Given the description of an element on the screen output the (x, y) to click on. 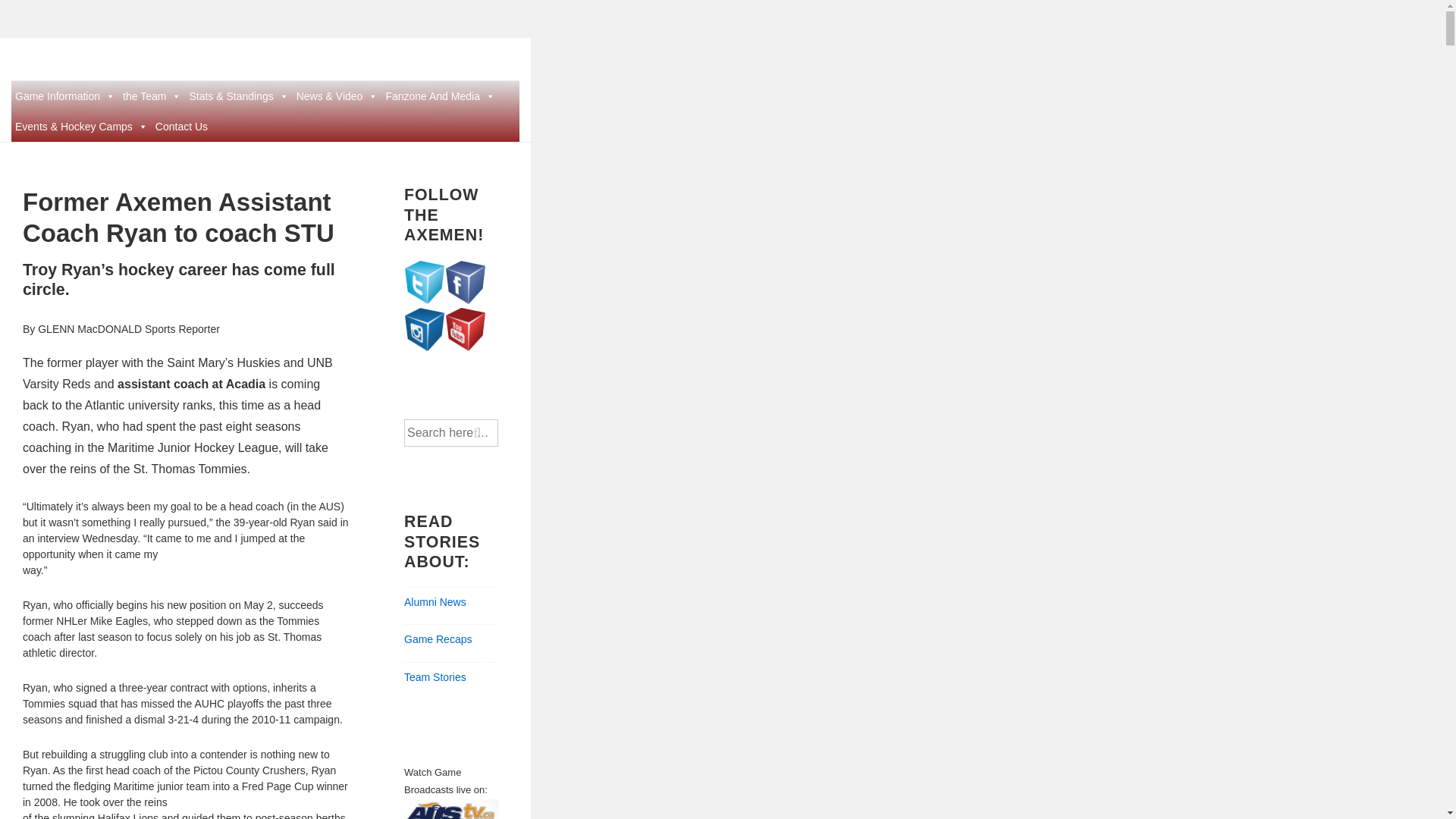
Fanzone And Media (440, 96)
Twitter (424, 300)
Facebook (464, 282)
Facebook (465, 300)
Instagram (424, 329)
YouTube (464, 329)
Twitter (424, 282)
Contact Us (181, 126)
Instagram (424, 347)
YouTube (465, 347)
Game Information (65, 96)
the Team (151, 96)
